Given the description of an element on the screen output the (x, y) to click on. 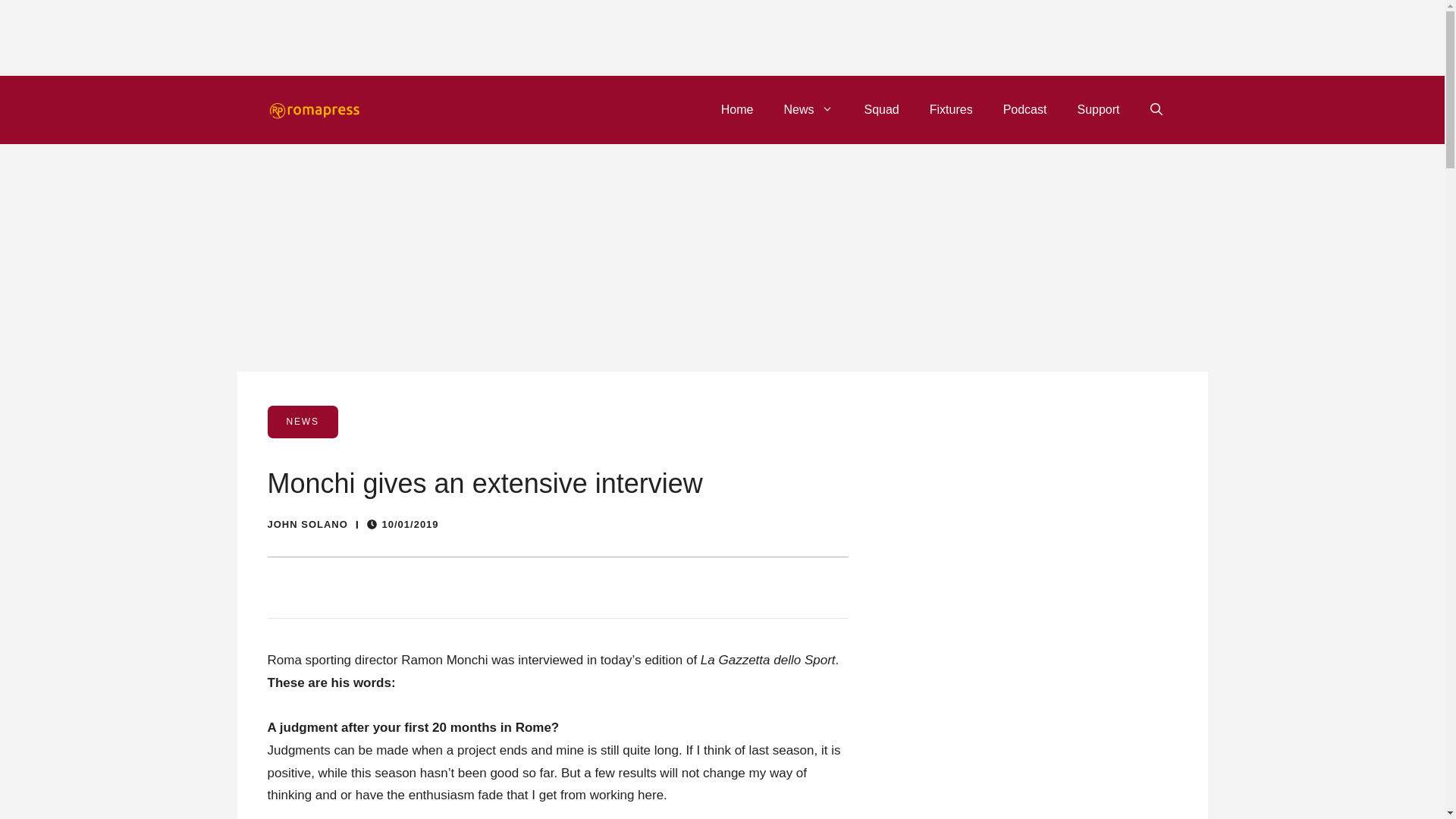
Squad (881, 109)
News (808, 109)
Support (1097, 109)
Home (737, 109)
Fixtures (951, 109)
Podcast (1025, 109)
